Given the description of an element on the screen output the (x, y) to click on. 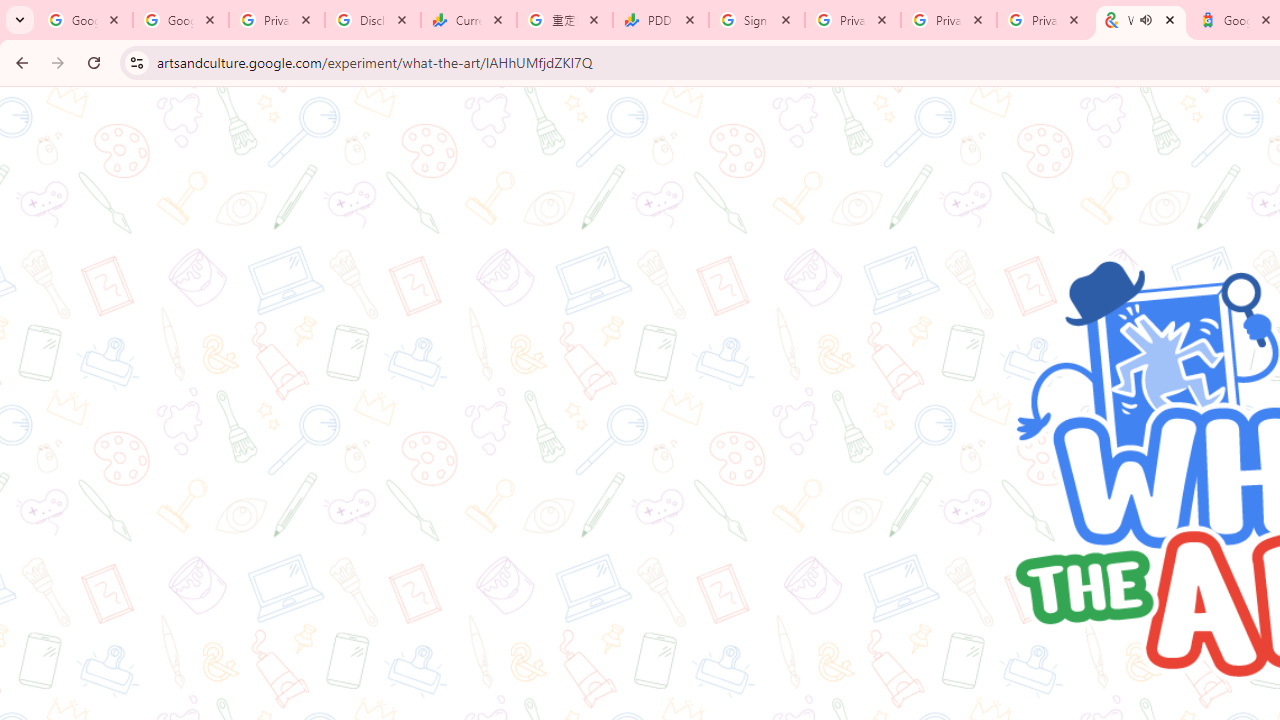
Currencies - Google Finance (469, 20)
Privacy Checkup (1045, 20)
